Given the description of an element on the screen output the (x, y) to click on. 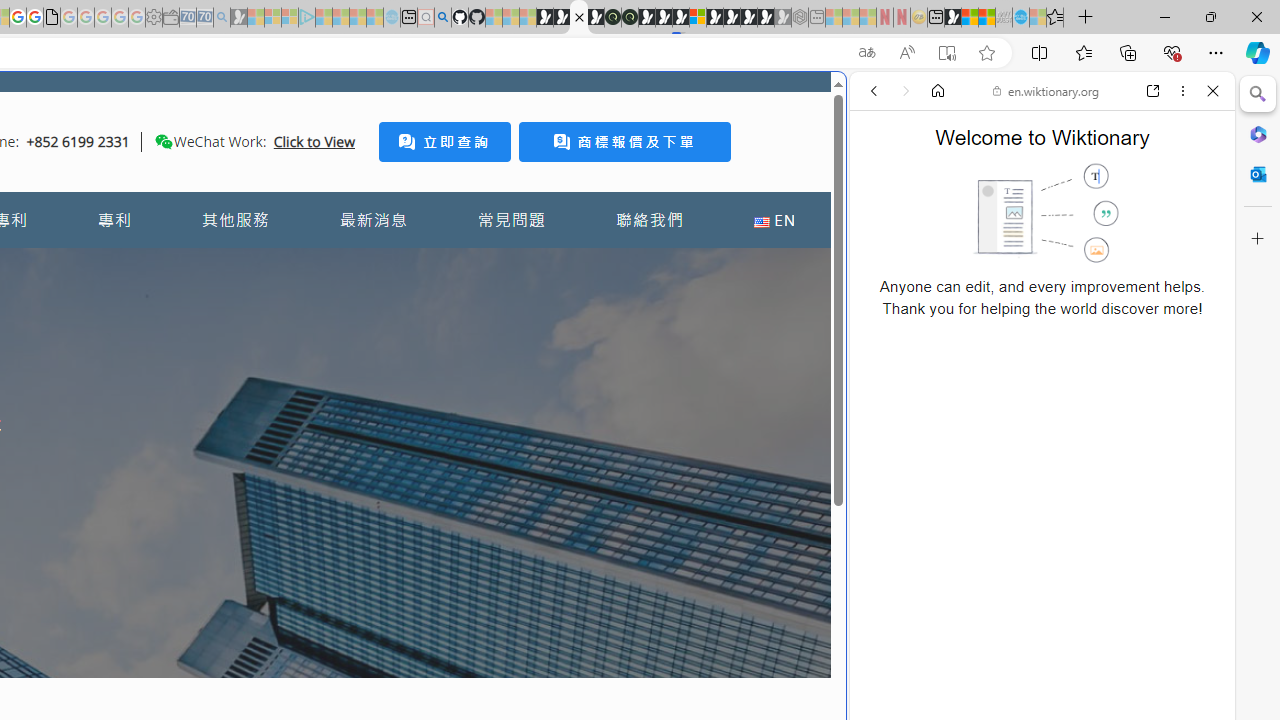
Show translate options (867, 53)
